Given the description of an element on the screen output the (x, y) to click on. 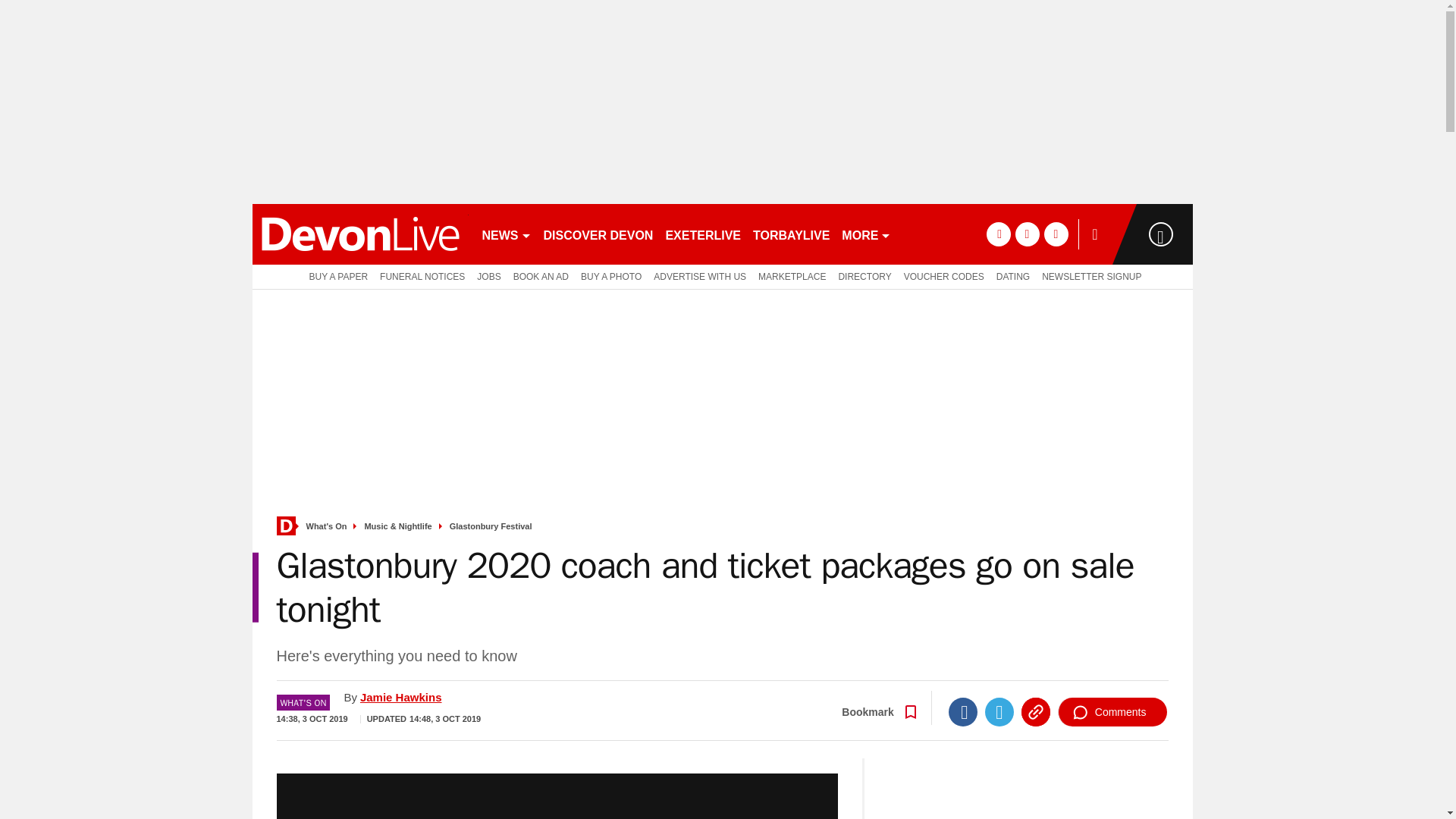
Comments (1112, 711)
MORE (865, 233)
devonlive (359, 233)
EXETERLIVE (702, 233)
twitter (1026, 233)
NEWS (506, 233)
Twitter (999, 711)
instagram (1055, 233)
TORBAYLIVE (790, 233)
facebook (997, 233)
DISCOVER DEVON (598, 233)
Facebook (962, 711)
